Given the description of an element on the screen output the (x, y) to click on. 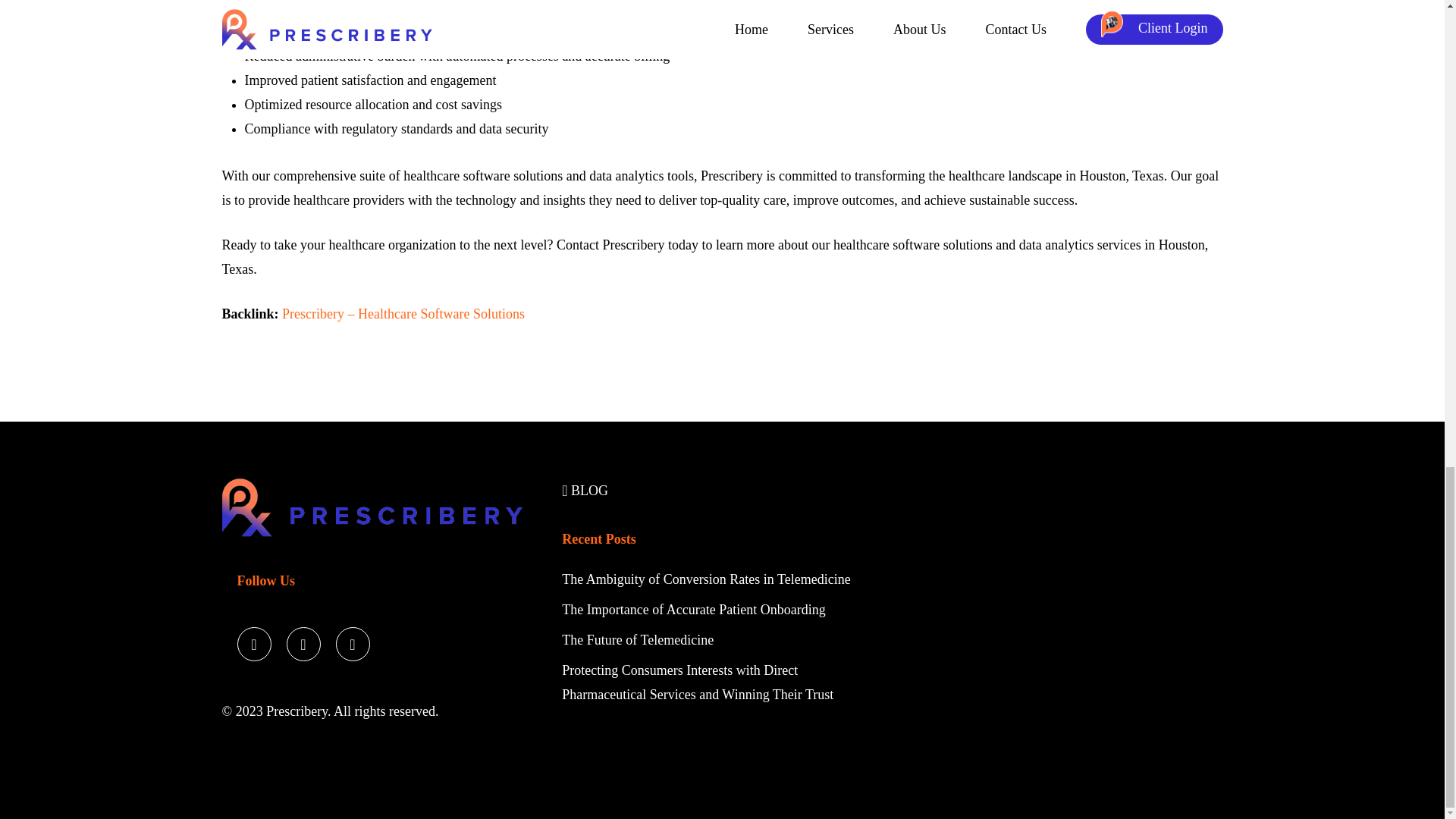
The Ambiguity of Conversion Rates in Telemedicine  (707, 585)
twitter (252, 646)
BLOG (585, 497)
The Importance of Accurate Patient Onboarding (693, 616)
LinkedIn (351, 646)
The Future of Telemedicine (637, 646)
facebook (303, 646)
